Given the description of an element on the screen output the (x, y) to click on. 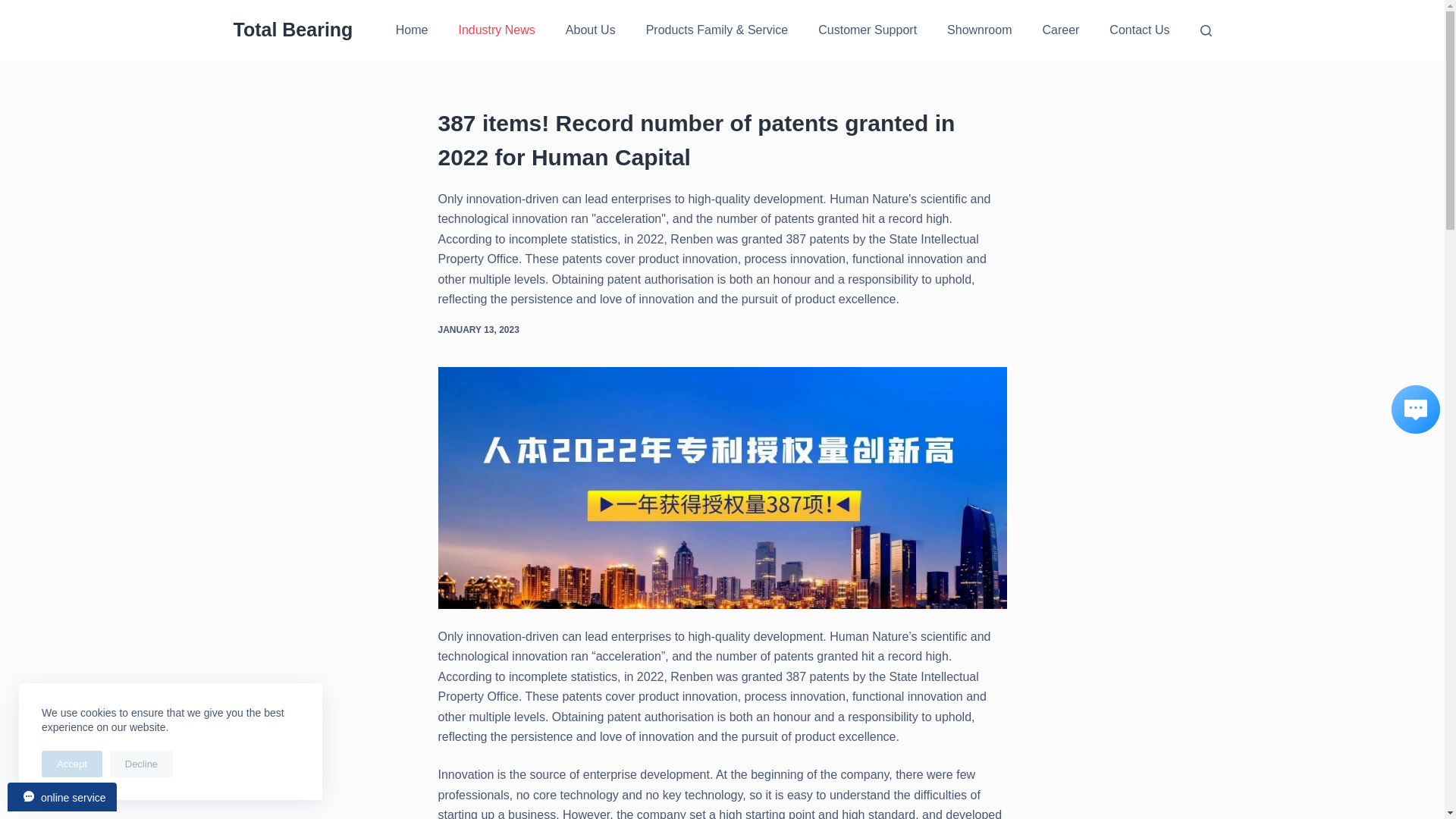
Total Bearing (292, 29)
Contact Us (1139, 30)
Skip to content (15, 7)
Decline (141, 764)
Shownroom (978, 30)
Industry News (496, 30)
Career (1060, 30)
Accept (71, 764)
Home (412, 30)
